Given the description of an element on the screen output the (x, y) to click on. 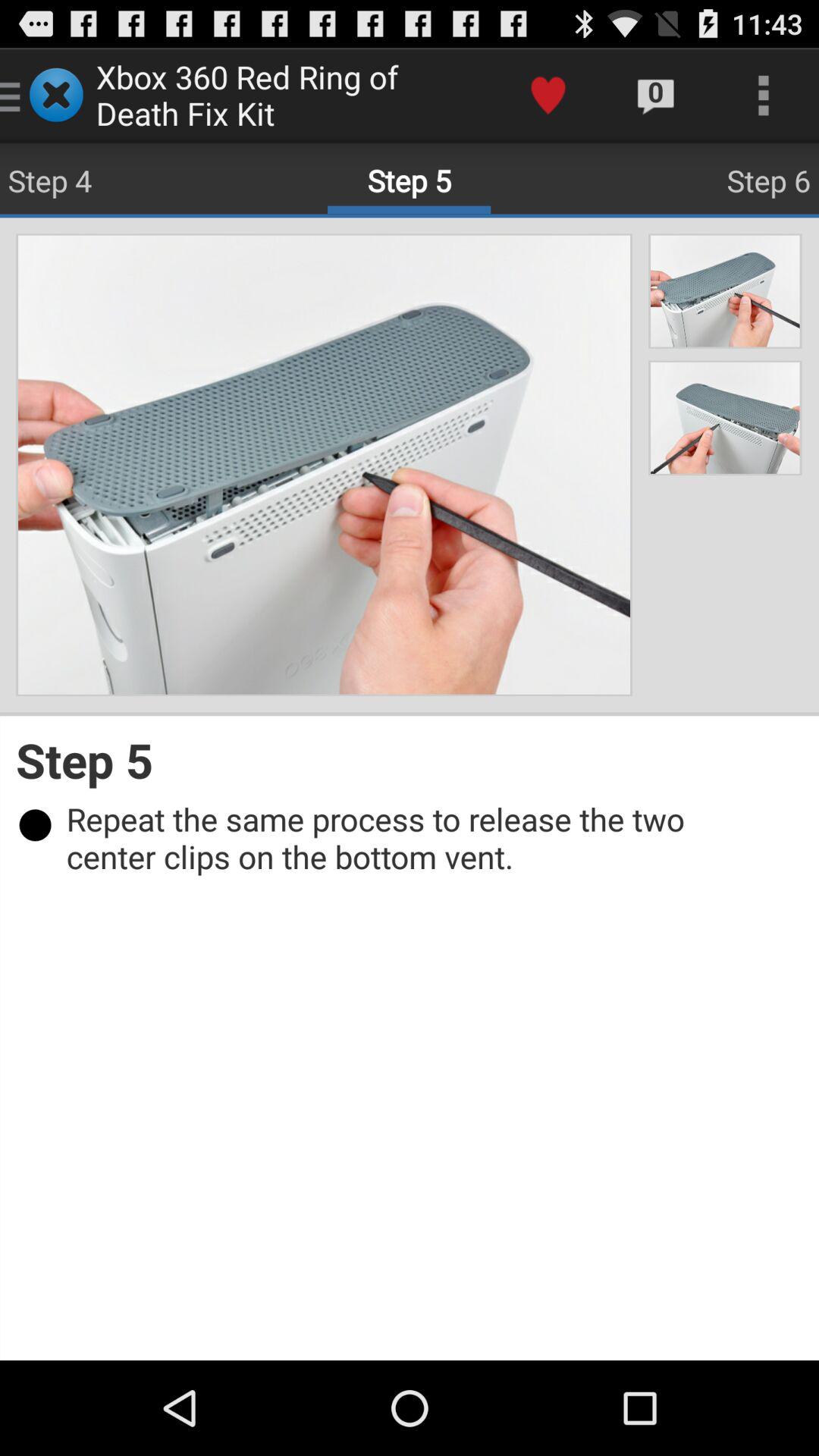
jump until step 5 icon (409, 759)
